Given the description of an element on the screen output the (x, y) to click on. 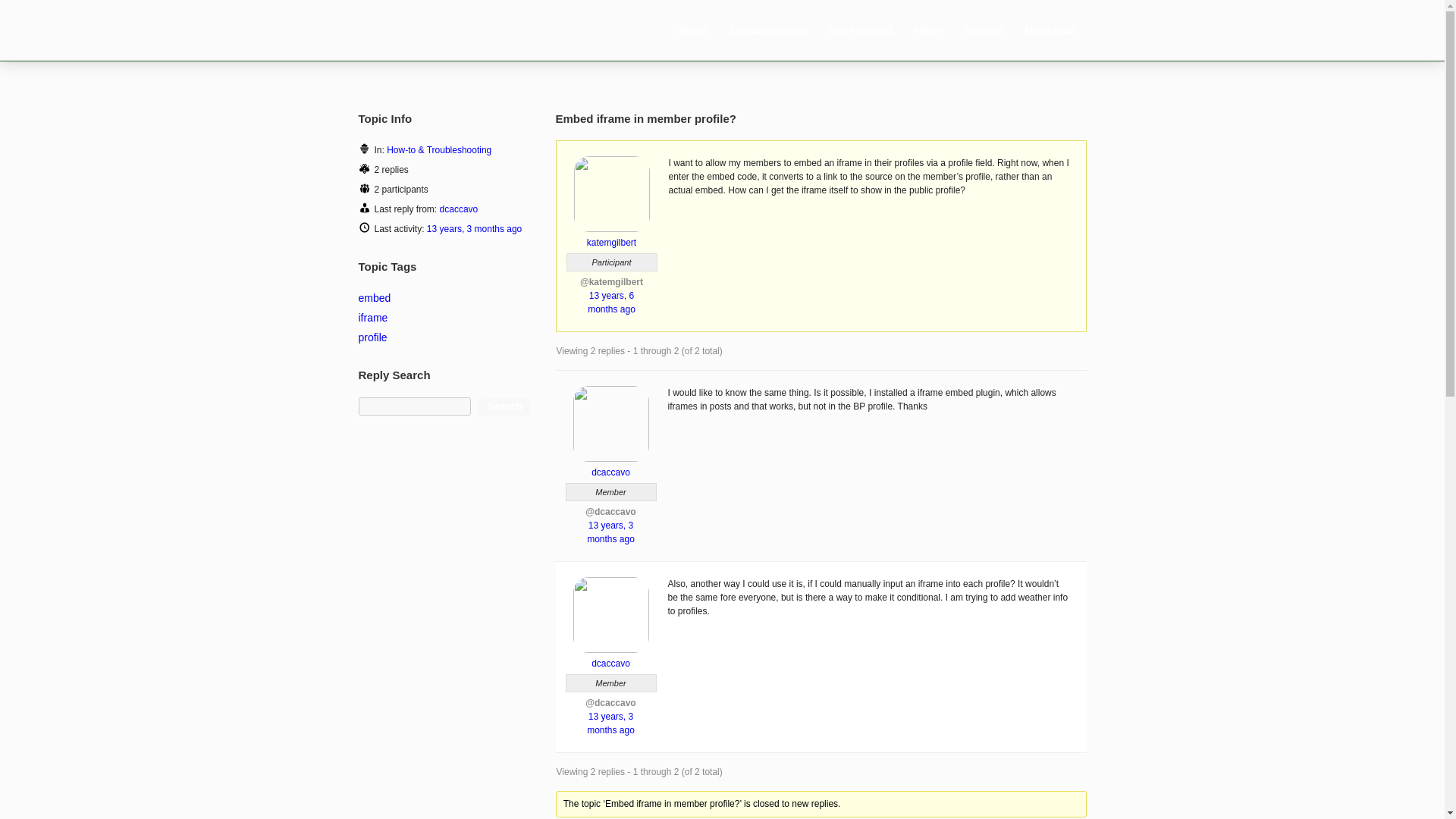
Support (983, 29)
News (927, 29)
About (693, 29)
iframe (372, 317)
profile (372, 337)
Search (504, 406)
BuddyPress.org (441, 29)
13 years, 6 months ago (611, 302)
dcaccavo (609, 466)
13 years, 3 months ago (610, 532)
Search (504, 406)
Documentation (768, 29)
Get Involved (861, 29)
dcaccavo (609, 657)
Download (1050, 29)
